Given the description of an element on the screen output the (x, y) to click on. 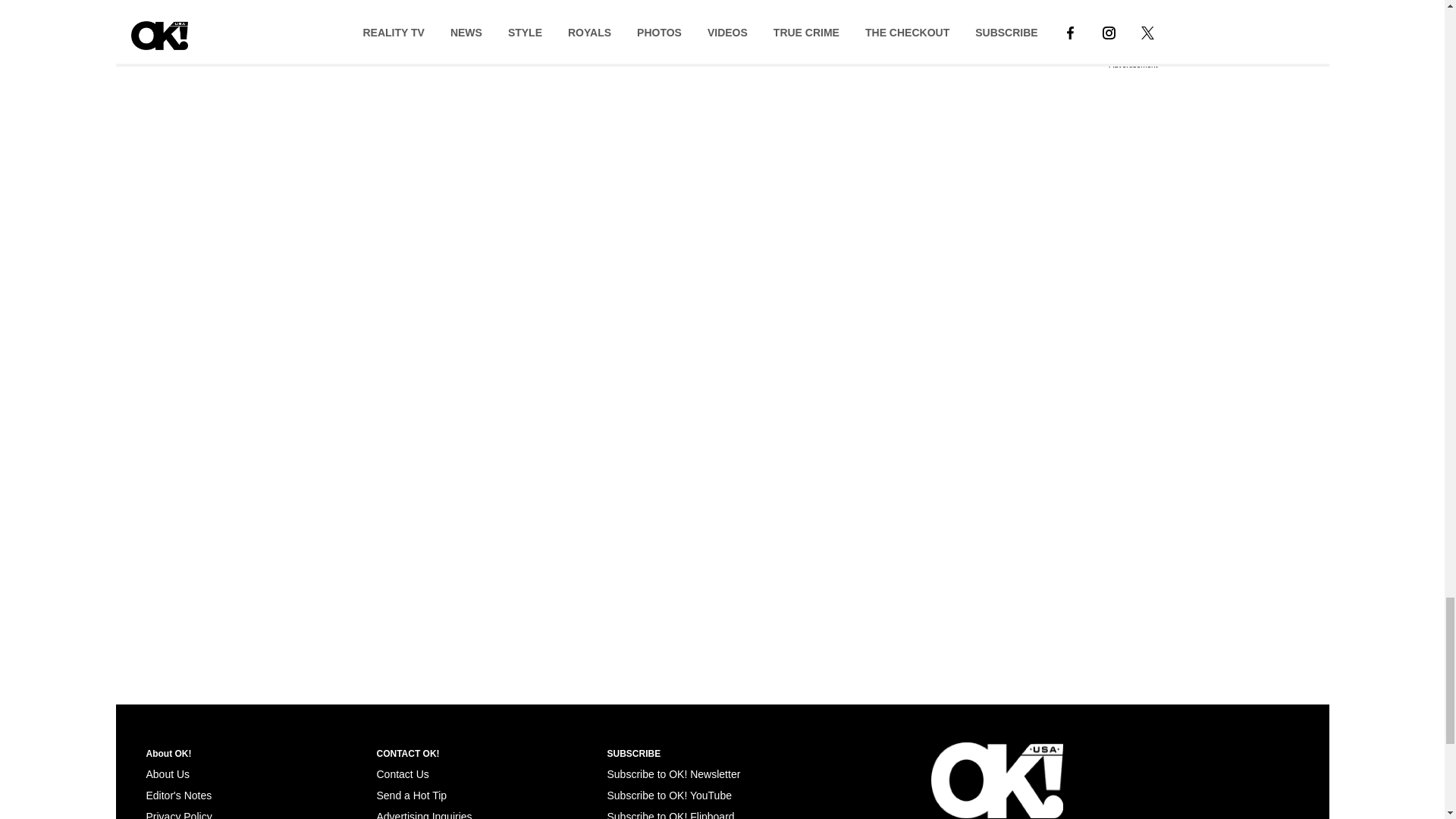
Contact Us (401, 774)
Editor's Notes (178, 795)
About Us (167, 774)
Privacy Policy (178, 814)
Advertising Inquiries (423, 814)
Send a Hot Tip (410, 795)
